Given the description of an element on the screen output the (x, y) to click on. 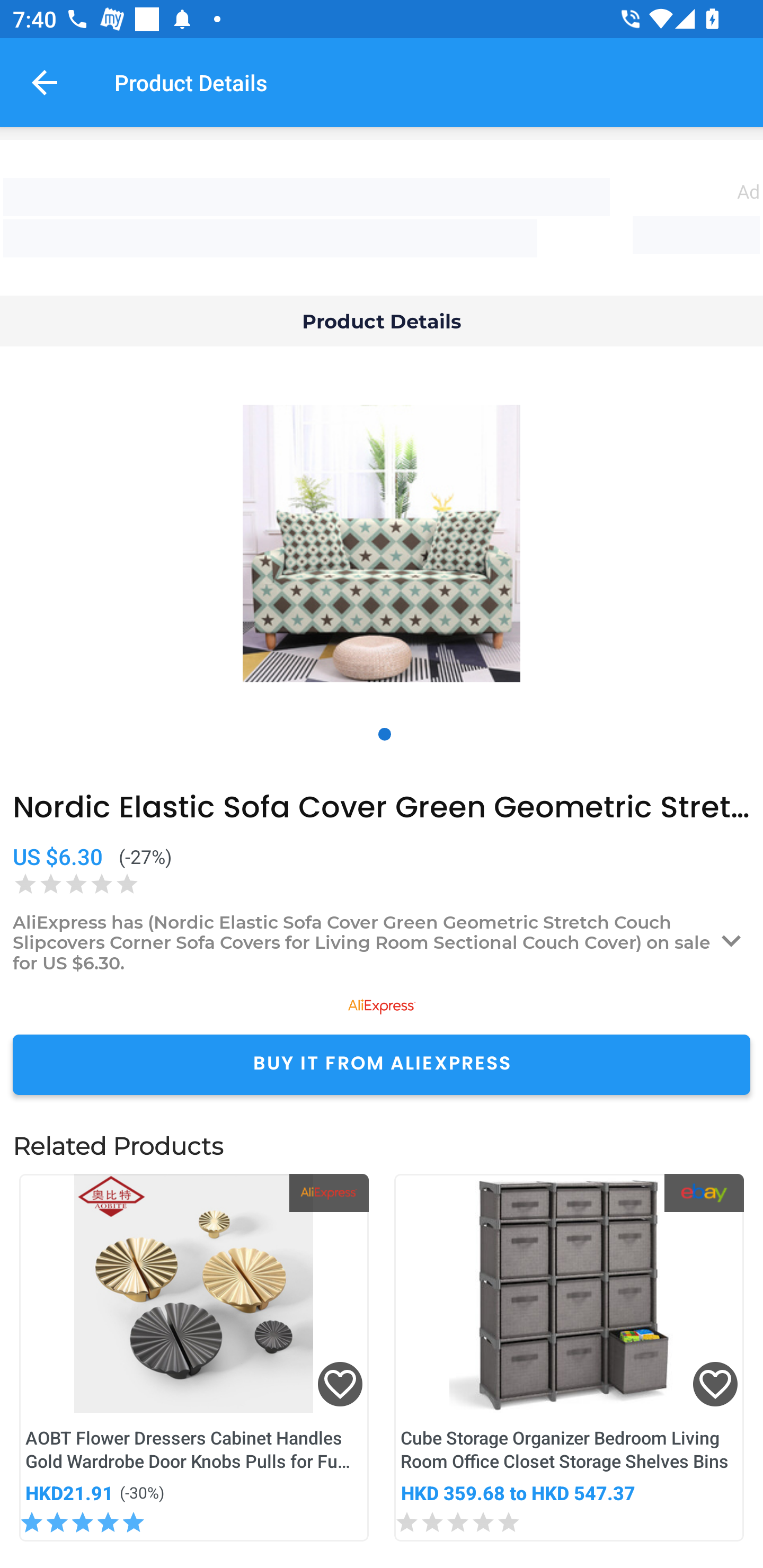
Navigate up (44, 82)
BUY IT FROM ALIEXPRESS (381, 1064)
